Given the description of an element on the screen output the (x, y) to click on. 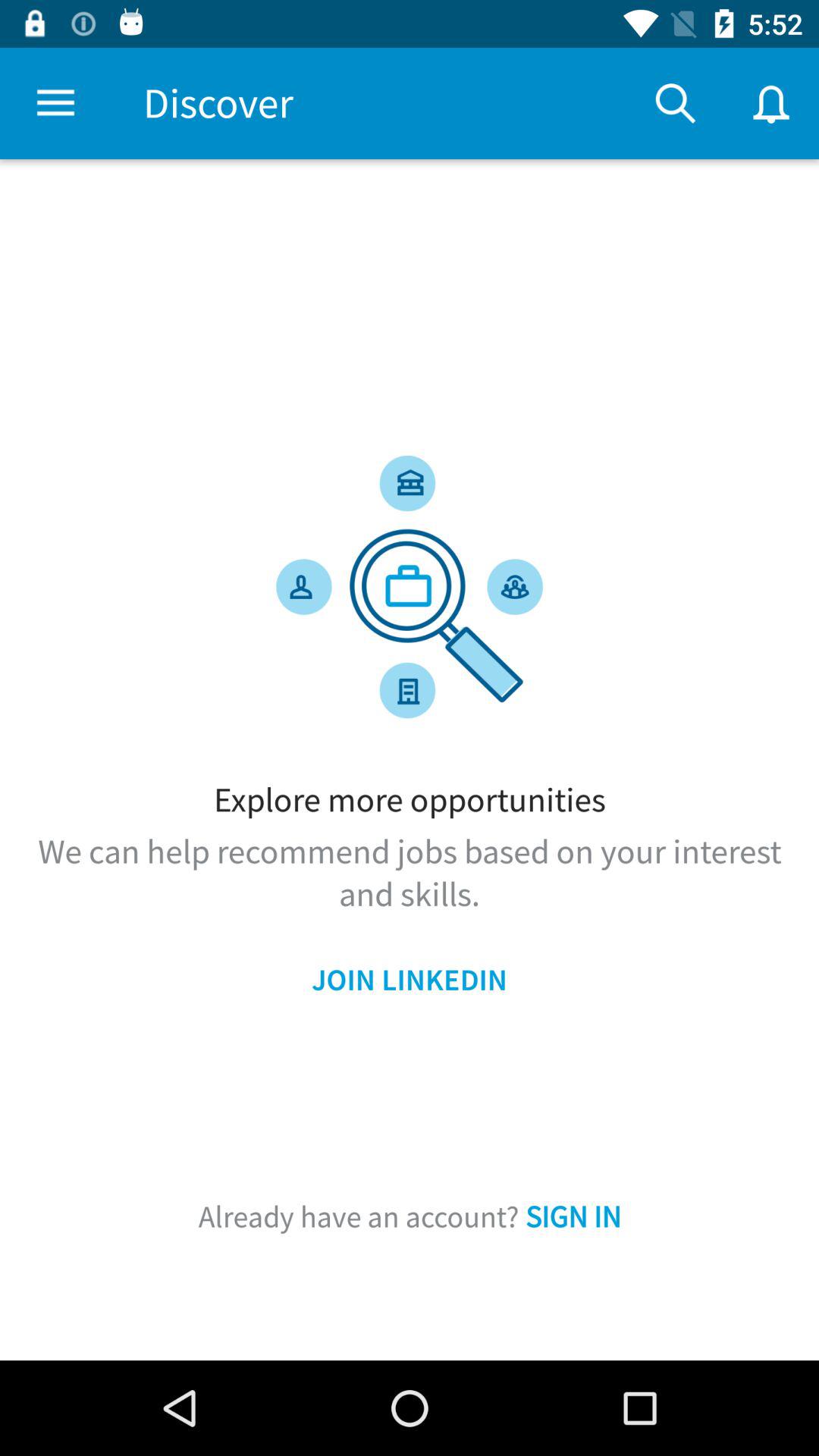
choose item below the join linkedin (409, 1216)
